Given the description of an element on the screen output the (x, y) to click on. 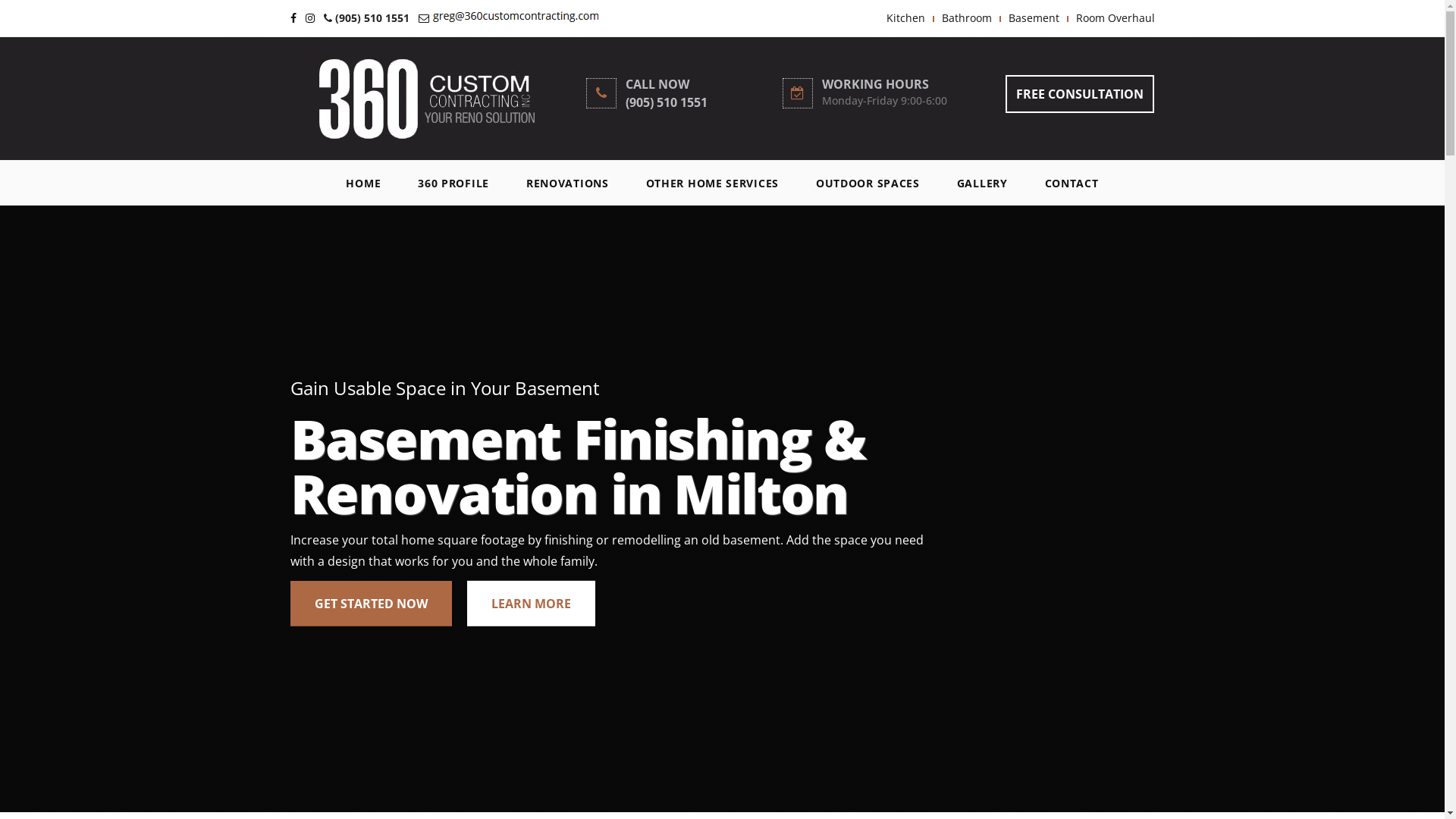
RENOVATIONS Element type: text (567, 183)
GET STARTED NOW Element type: text (370, 603)
Basement Element type: text (1033, 17)
LEARN MORE Element type: text (531, 603)
Bathroom Element type: text (966, 17)
FREE CONSULTATION Element type: text (1079, 93)
HOME Element type: text (363, 183)
(905) 510 1551 Element type: text (367, 17)
GALLERY Element type: text (982, 183)
OUTDOOR SPACES Element type: text (867, 183)
Room Overhaul Element type: text (1114, 17)
360 PROFILE Element type: text (453, 183)
Kitchen Element type: text (904, 17)
OTHER HOME SERVICES Element type: text (712, 183)
CONTACT Element type: text (1071, 183)
